Given the description of an element on the screen output the (x, y) to click on. 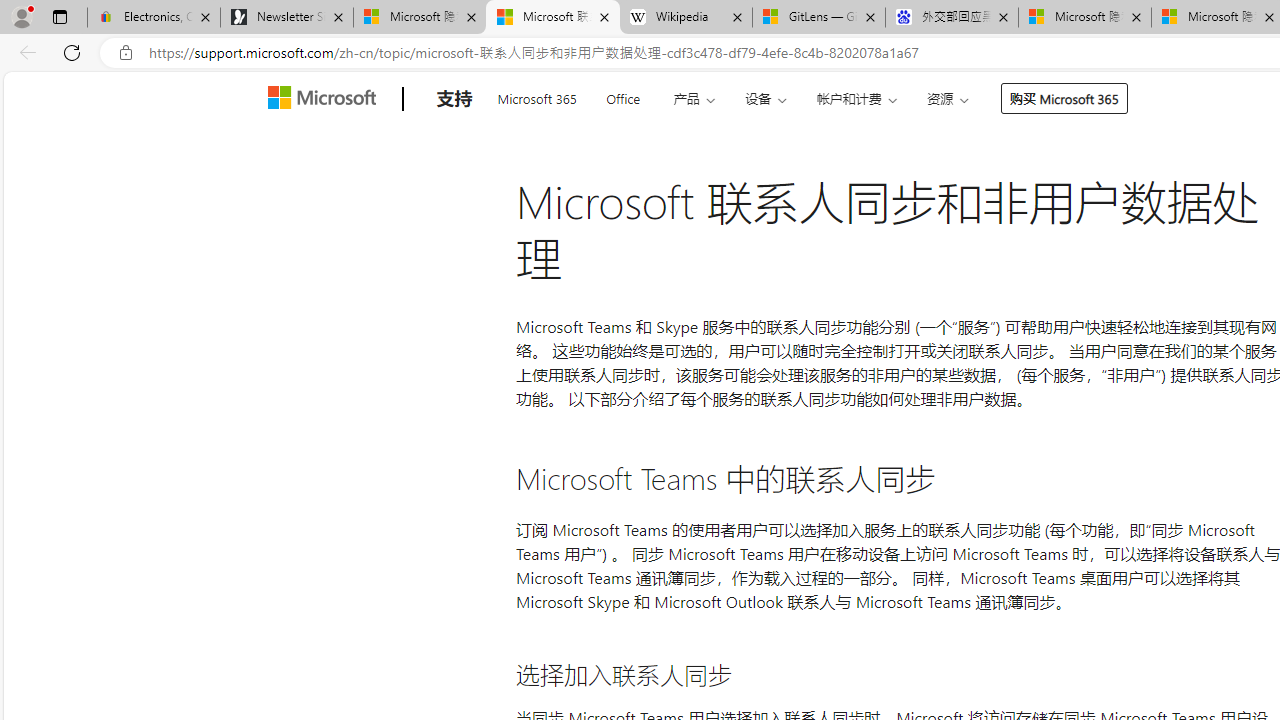
Newsletter Sign Up (287, 17)
Office (623, 96)
Office (623, 96)
